Given the description of an element on the screen output the (x, y) to click on. 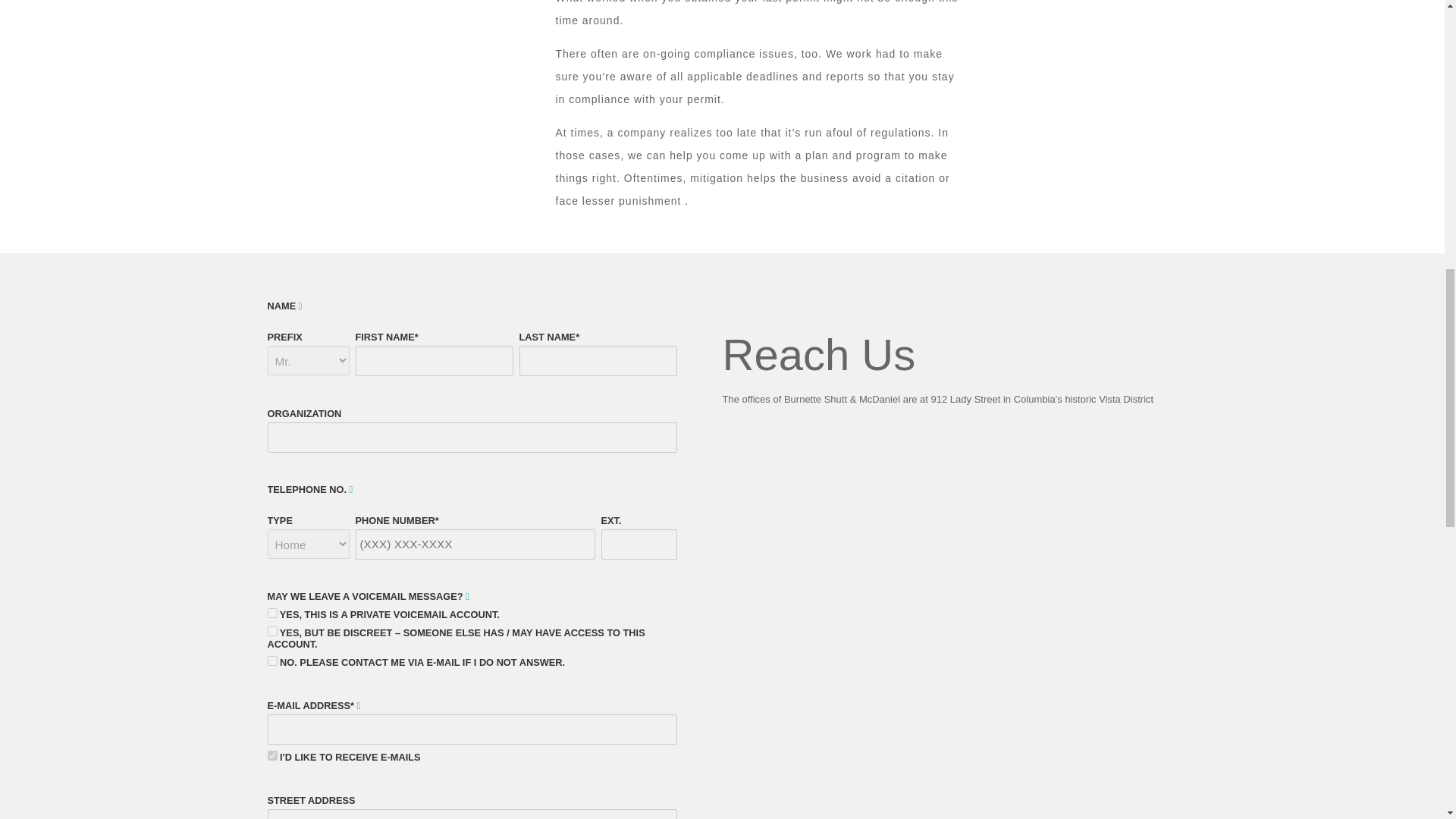
I'd like to receive e-mails (271, 755)
Yes, this is a private voicemail account. (271, 613)
No. Please contact me via e-mail if I do not answer. (271, 660)
